Given the description of an element on the screen output the (x, y) to click on. 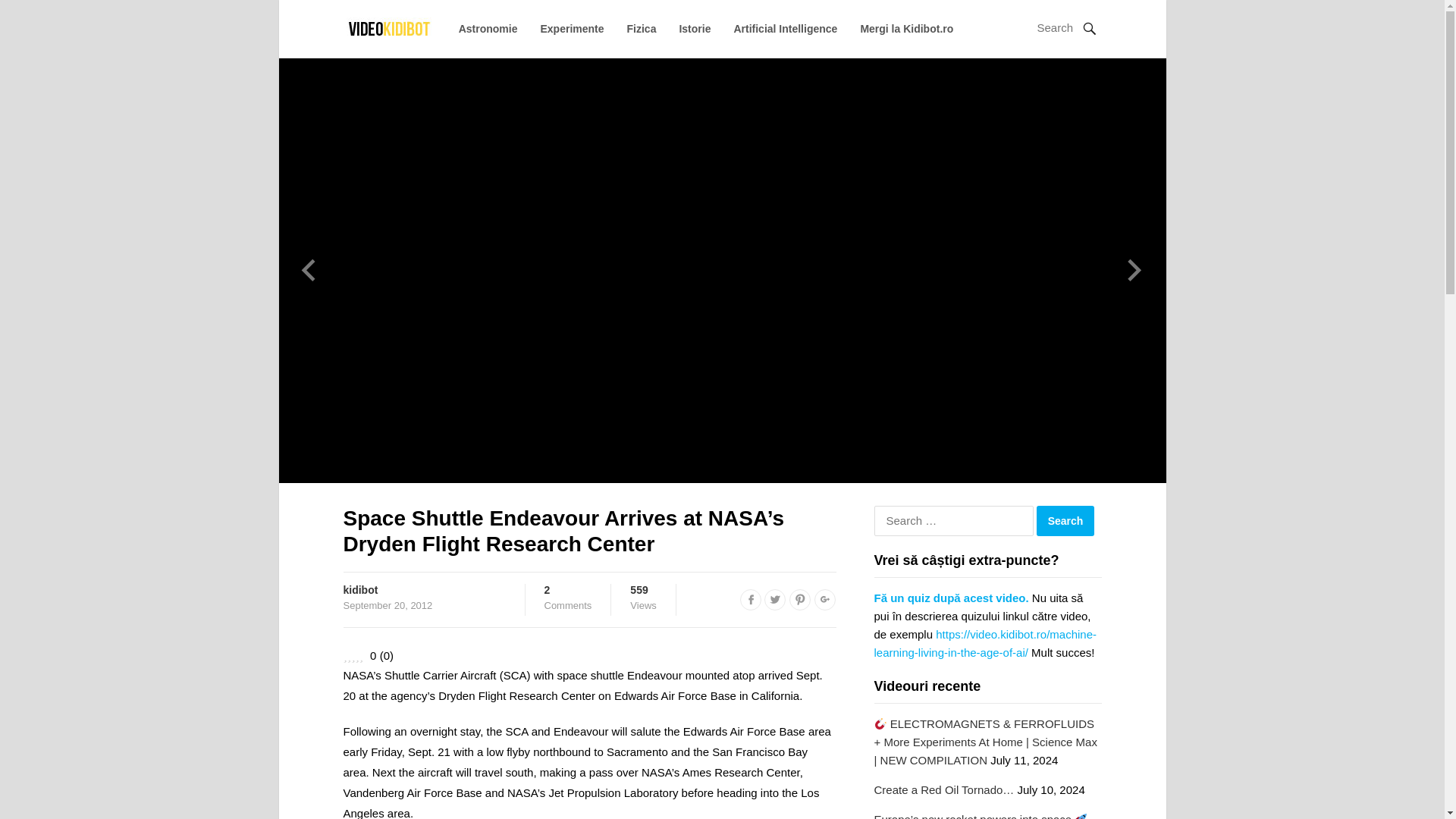
Search (1065, 521)
Experimente (572, 28)
Posts by kidibot (359, 589)
Mergi la Kidibot.ro (906, 28)
Share on Pinterest (799, 599)
Artificial Intelligence (785, 28)
Astronomie (488, 28)
Search (1065, 521)
Share on Twitter (568, 596)
Share on Facebook (775, 599)
kidibot (750, 599)
